Given the description of an element on the screen output the (x, y) to click on. 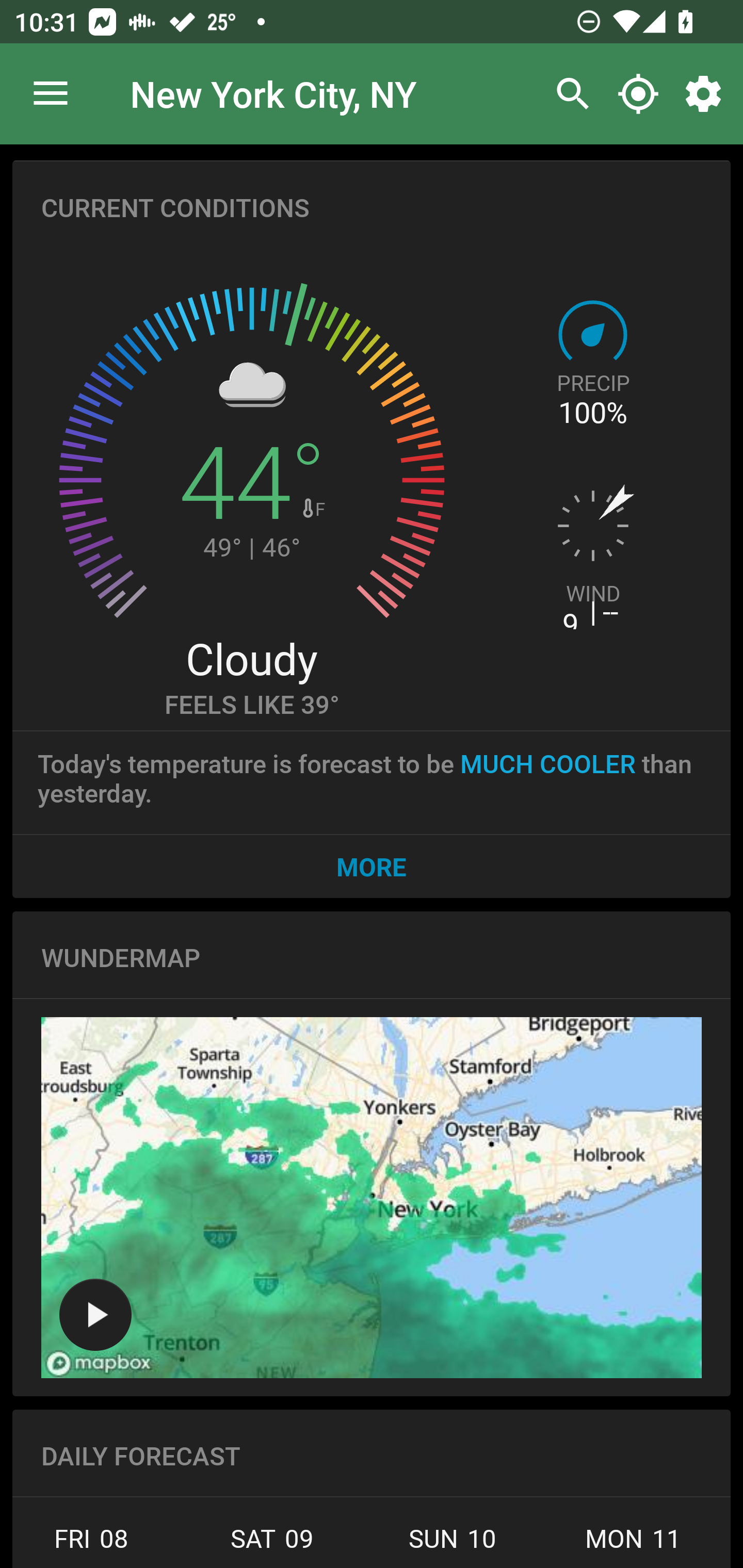
Press to open location manager. (50, 93)
Search for location (567, 94)
Select GPS location (637, 94)
Settings (706, 94)
New York City, NY (273, 92)
100% (592, 412)
Cloudy (251, 657)
MORE (371, 865)
Weather Map (371, 1197)
Weather Map (95, 1314)
FRI 08 (96, 1544)
SAT 09 (271, 1544)
SUN 10 (452, 1544)
MON 11 (633, 1544)
